Given the description of an element on the screen output the (x, y) to click on. 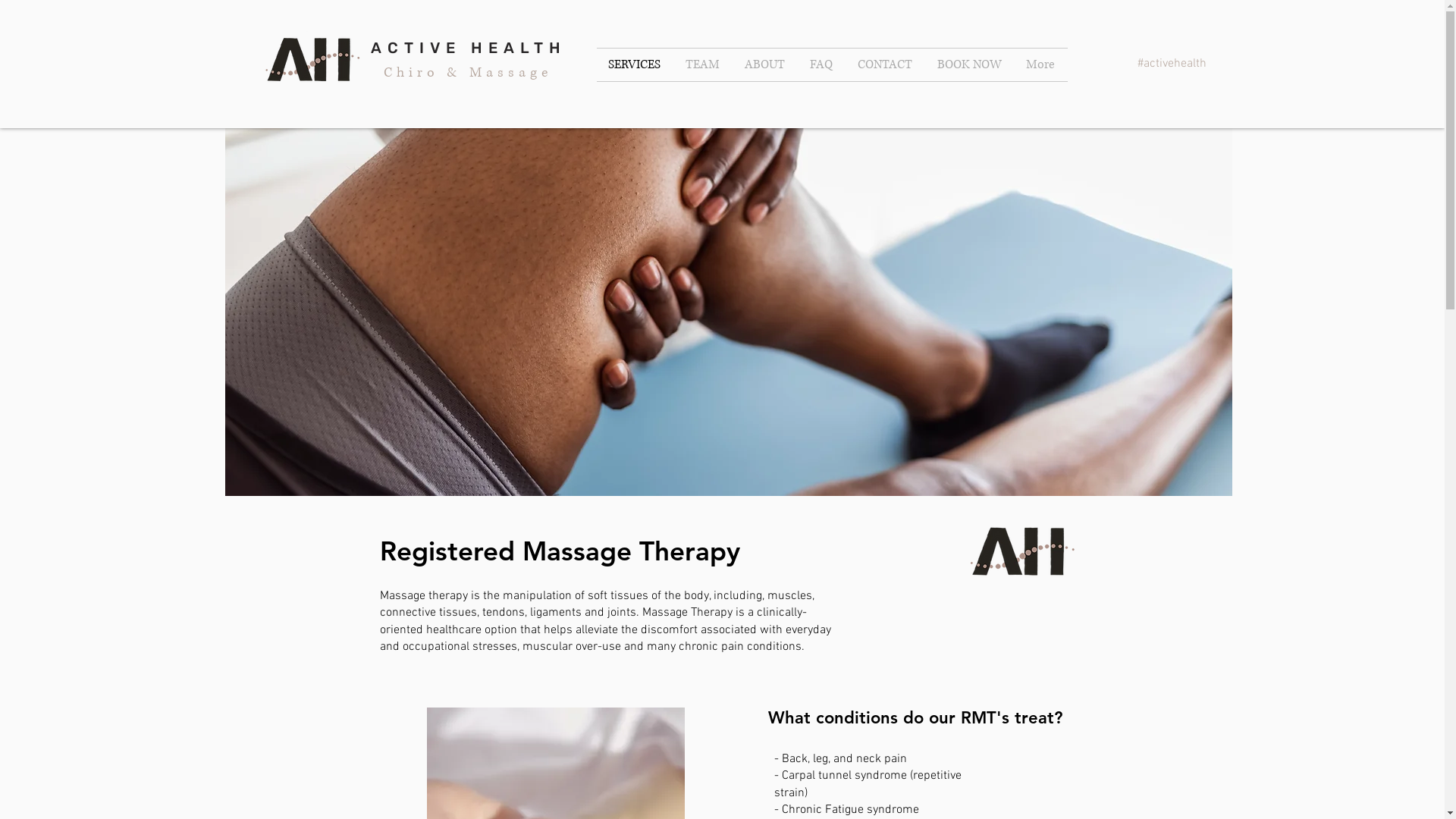
TEAM Element type: text (702, 64)
SERVICES Element type: text (634, 64)
ABOUT Element type: text (764, 64)
FAQ Element type: text (821, 64)
CONTACT Element type: text (885, 64)
BOOK NOW Element type: text (969, 64)
ACTIVE HEALTH Element type: text (467, 47)
Chiro & Massage Element type: text (467, 72)
